Given the description of an element on the screen output the (x, y) to click on. 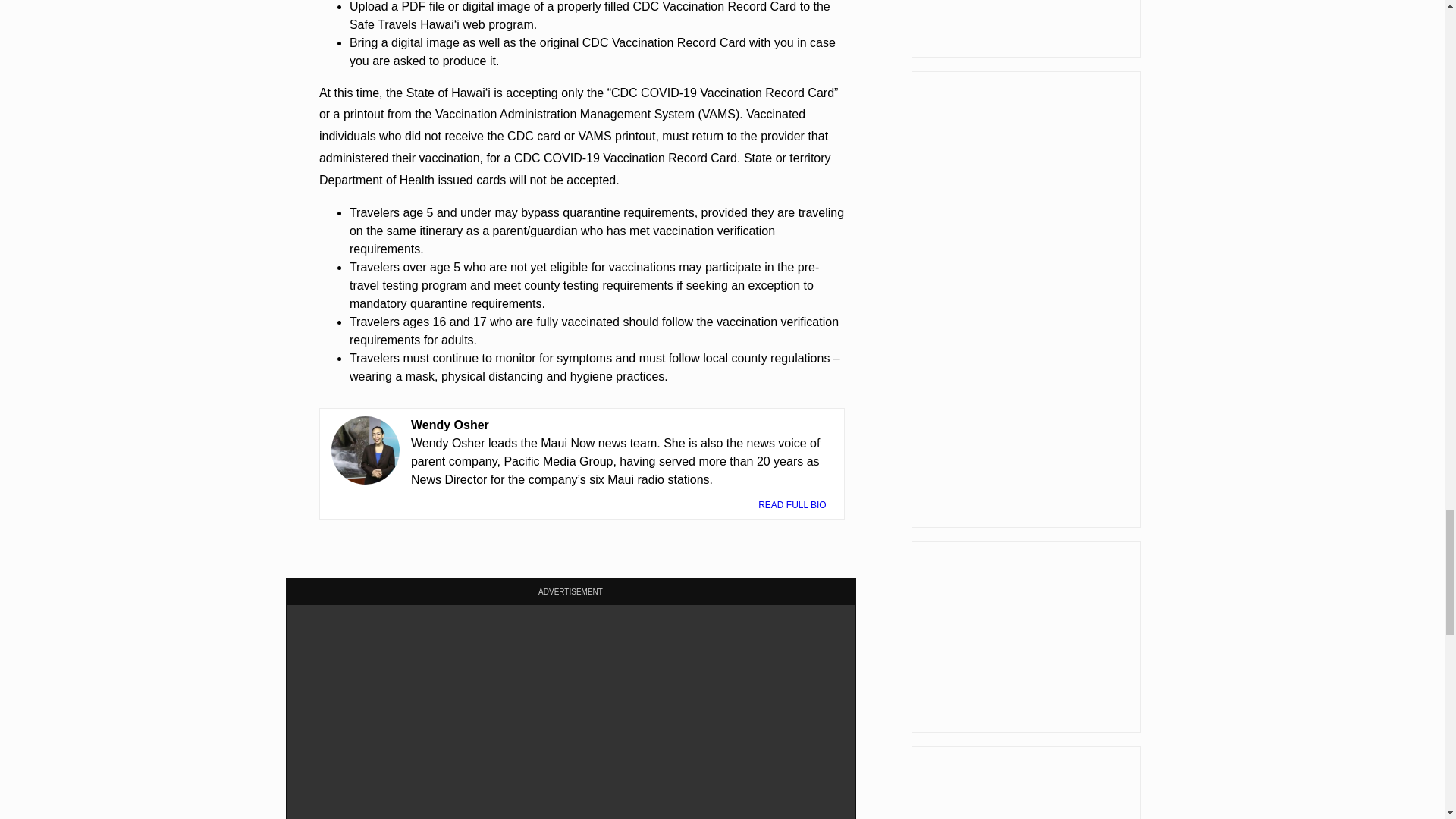
3rd party ad content (1025, 782)
3rd party ad content (1025, 636)
3rd party ad content (1025, 28)
